Given the description of an element on the screen output the (x, y) to click on. 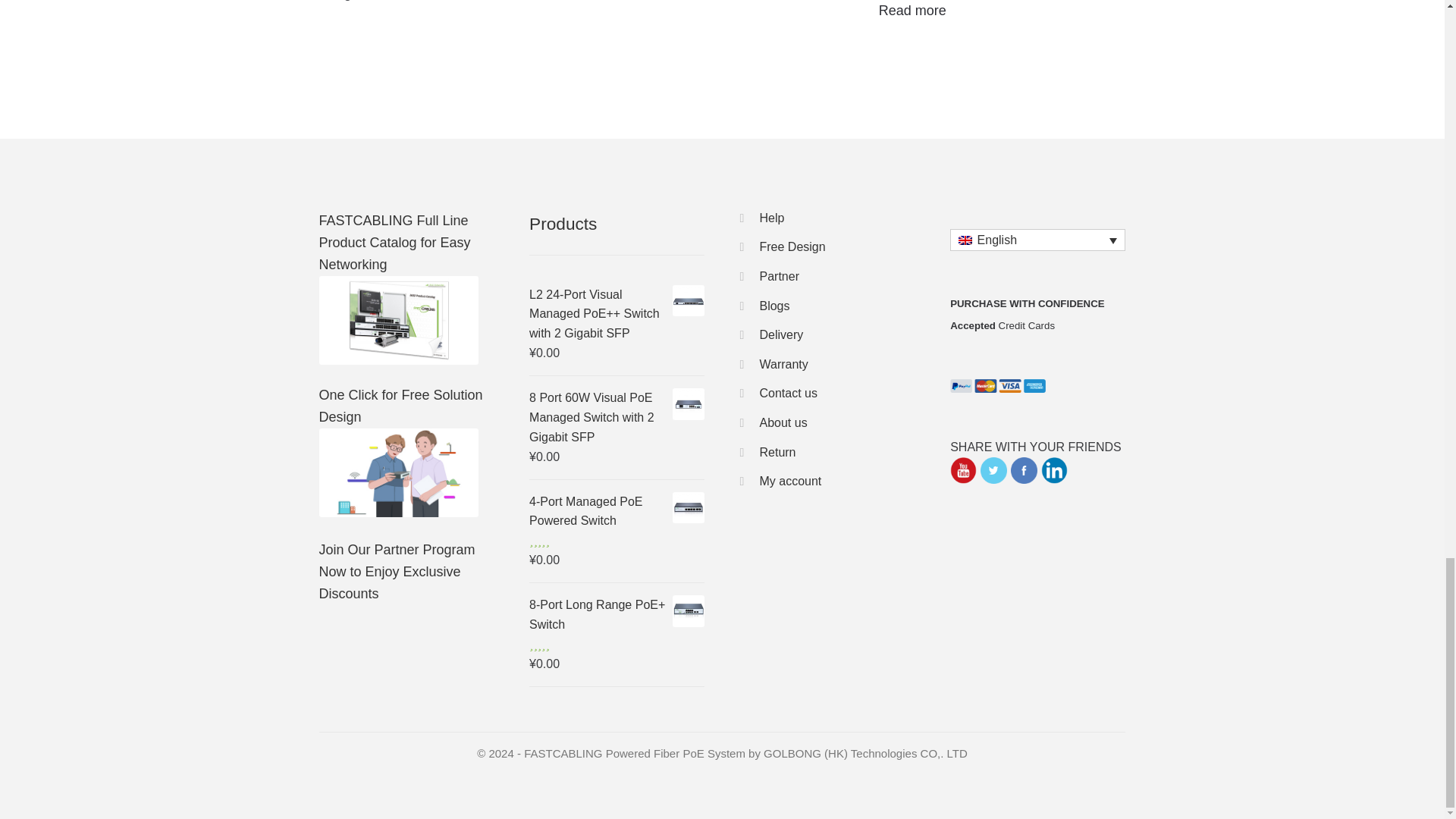
Twitter (993, 470)
Linkedin (1054, 470)
Facebook (1023, 470)
Youtube (963, 470)
